Given the description of an element on the screen output the (x, y) to click on. 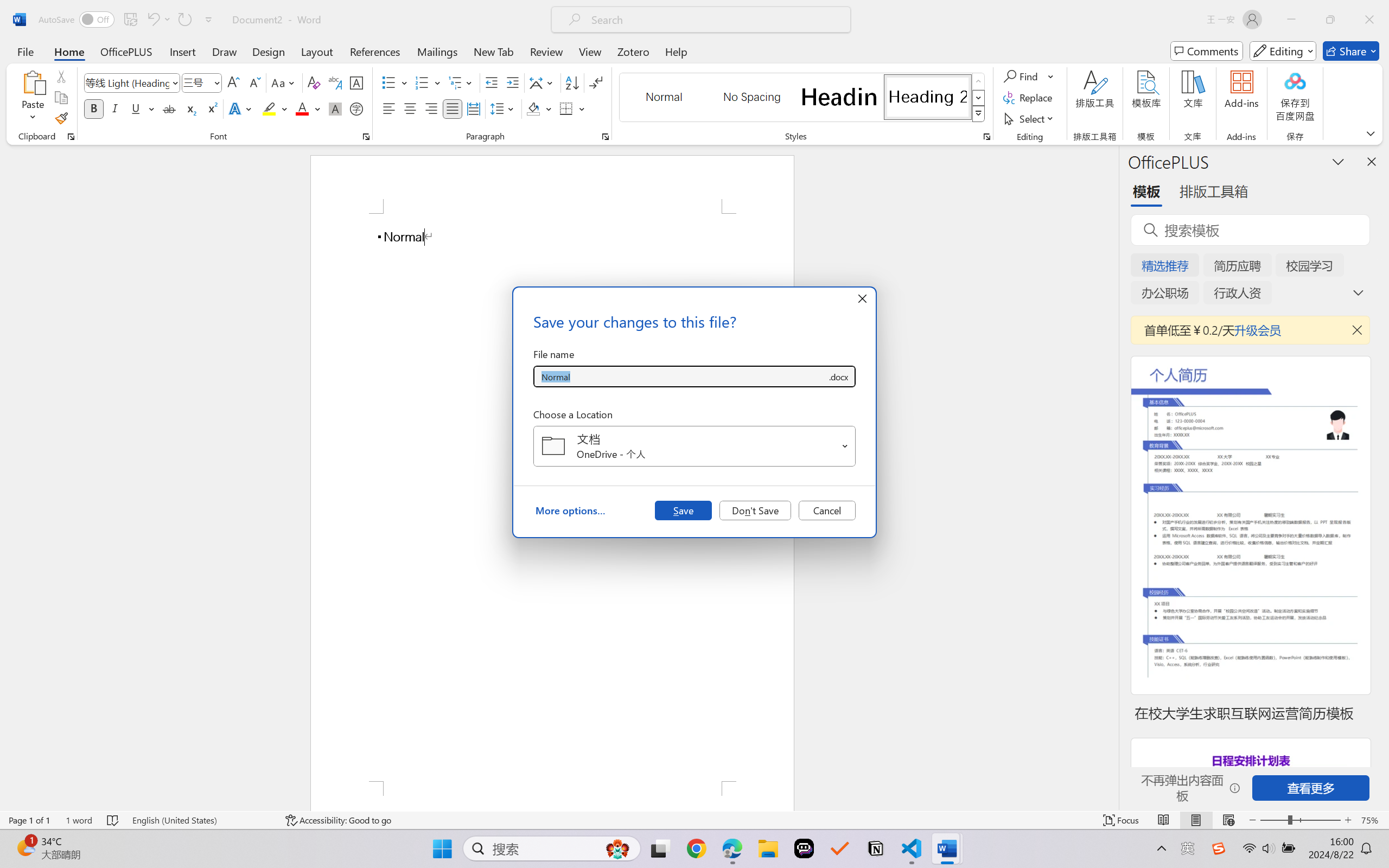
Find (1022, 75)
Insert (182, 51)
Review (546, 51)
Close (1369, 19)
